Given the description of an element on the screen output the (x, y) to click on. 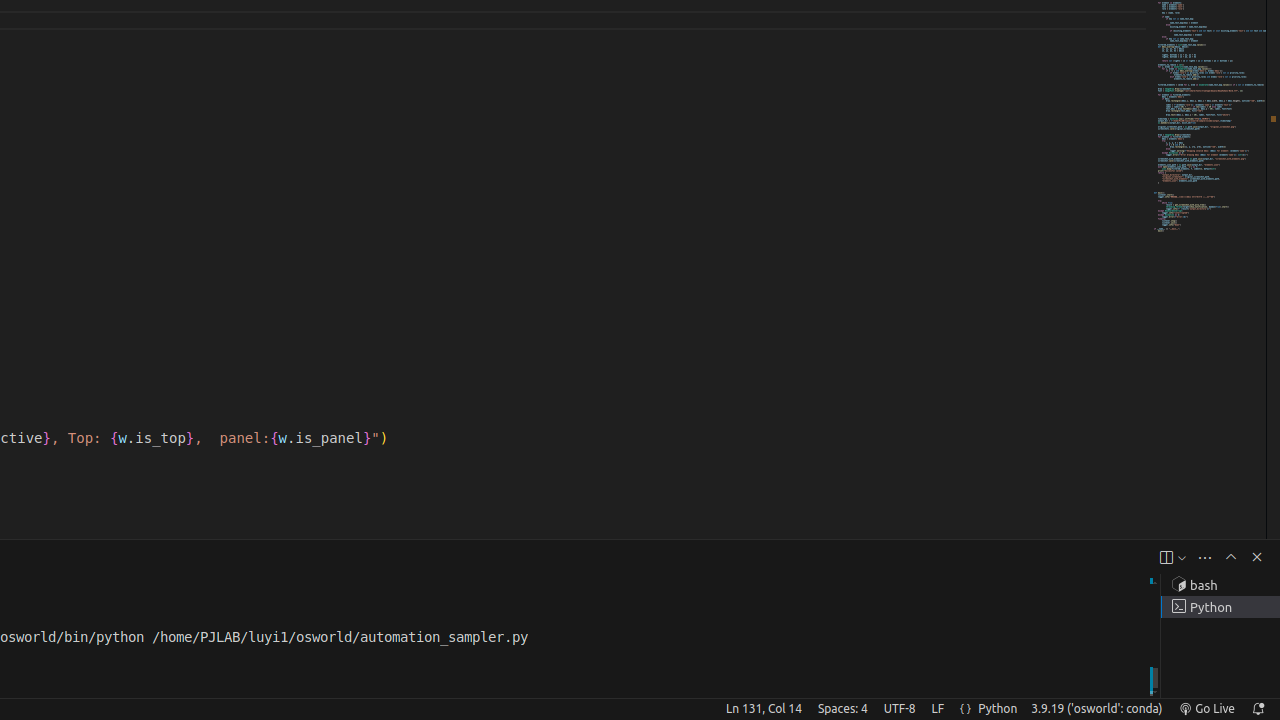
3.9.19 ('osworld': conda), ~/anaconda3/envs/osworld/bin/python Element type: push-button (1097, 709)
